Given the description of an element on the screen output the (x, y) to click on. 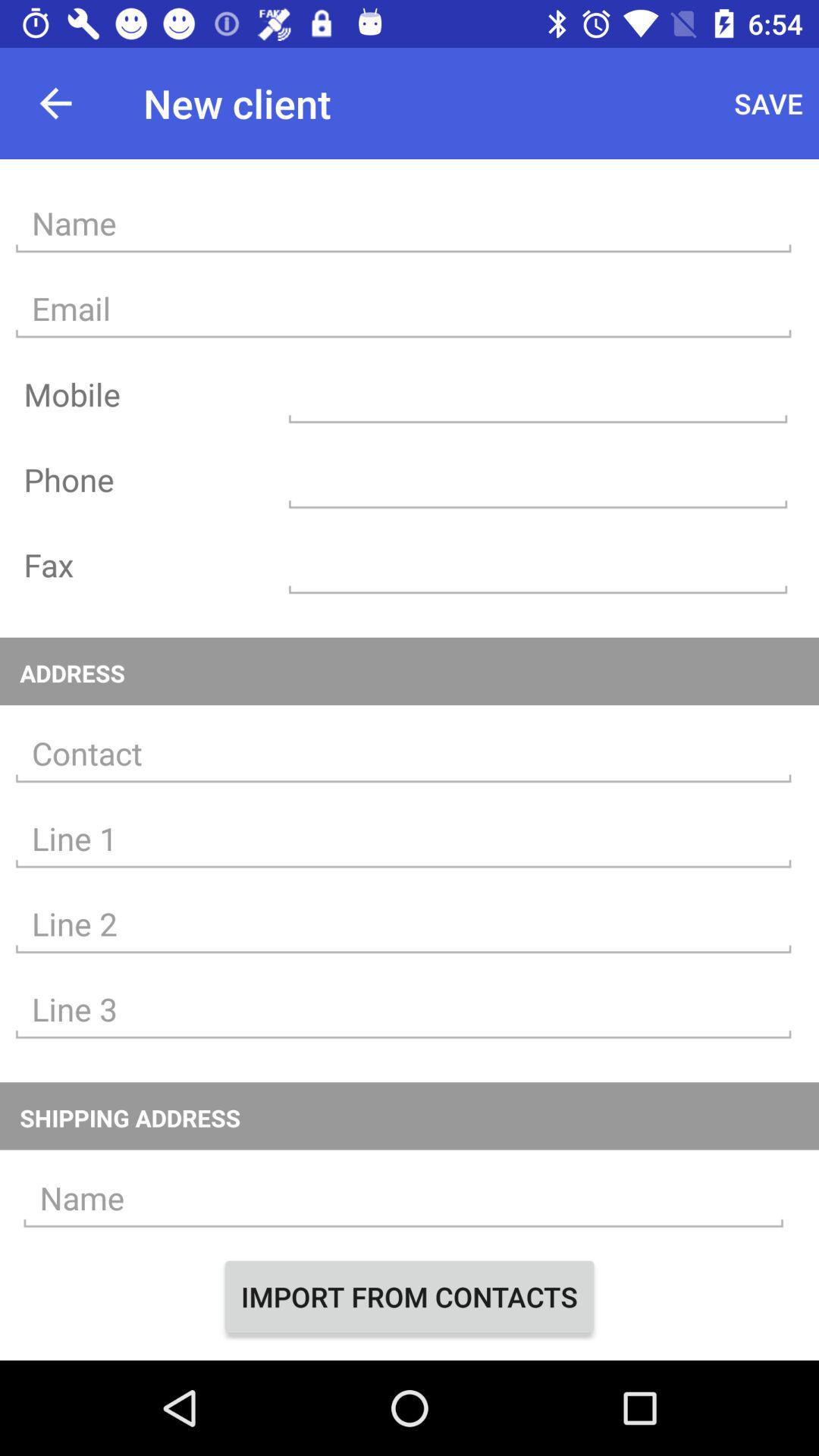
flip to the import from contacts (409, 1296)
